Given the description of an element on the screen output the (x, y) to click on. 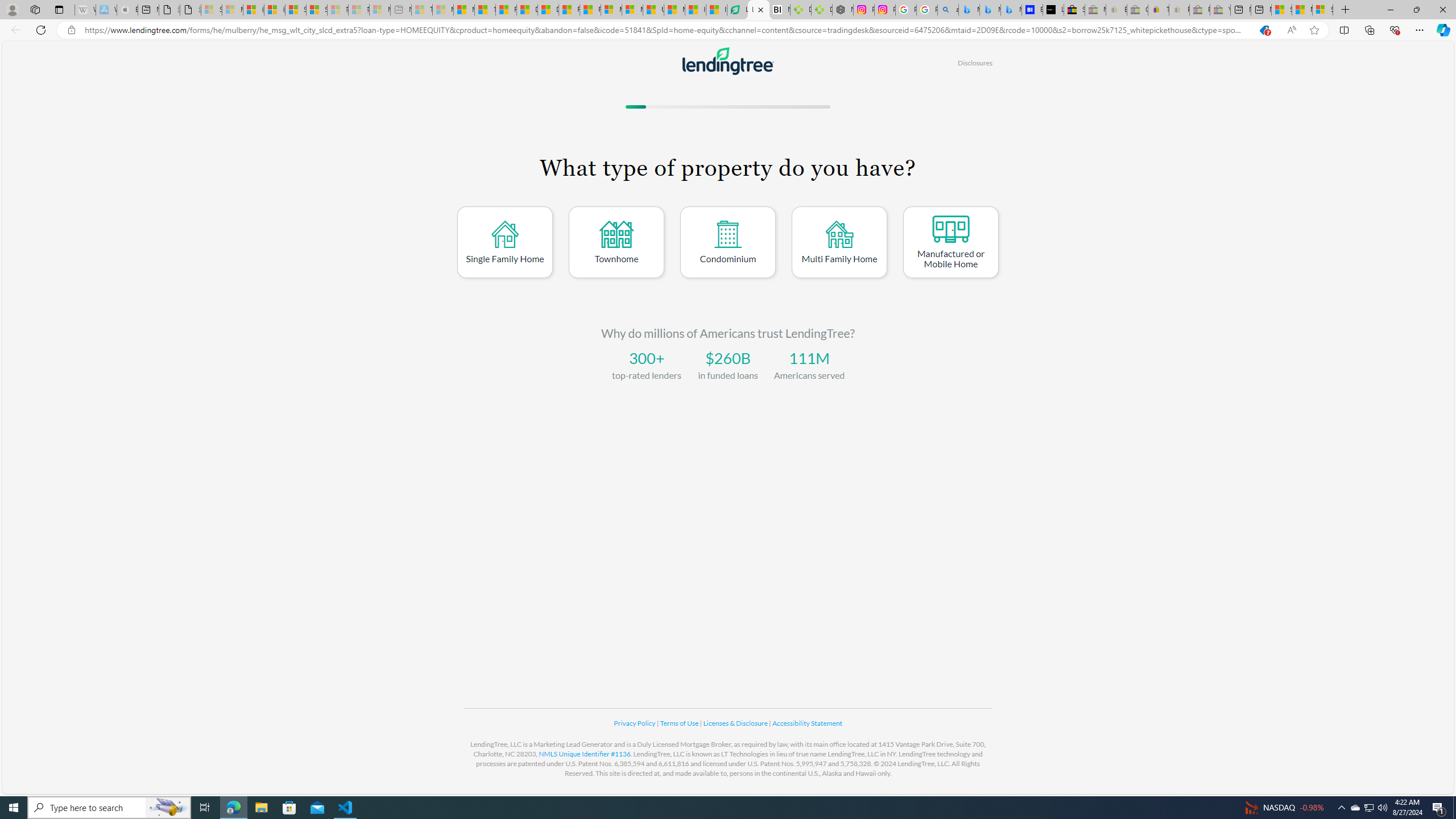
Microsoft Services Agreement - Sleeping (231, 9)
Press Room - eBay Inc. - Sleeping (1199, 9)
Terms of Use  (679, 723)
Buy iPad - Apple - Sleeping (127, 9)
Microsoft Bing Travel - Flights from Hong Kong to Bangkok (968, 9)
Shanghai, China hourly forecast | Microsoft Weather (1281, 9)
Drinking tea every day is proven to delay biological aging (547, 9)
Microsoft Bing Travel - Shangri-La Hotel Bangkok (1010, 9)
US Heat Deaths Soared To Record High Last Year (652, 9)
